Given the description of an element on the screen output the (x, y) to click on. 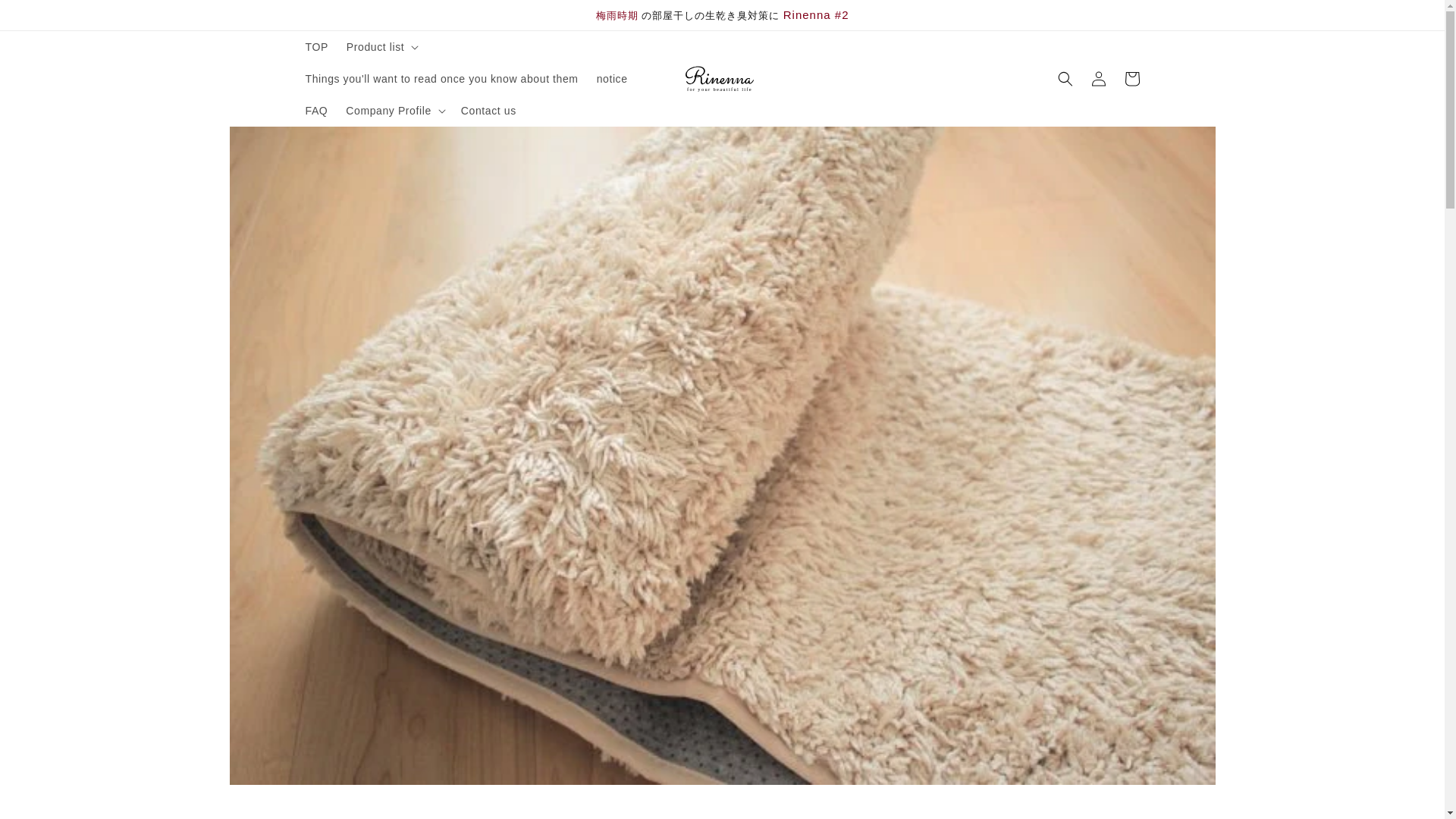
TOP (315, 47)
Skip to content (45, 17)
